Given the description of an element on the screen output the (x, y) to click on. 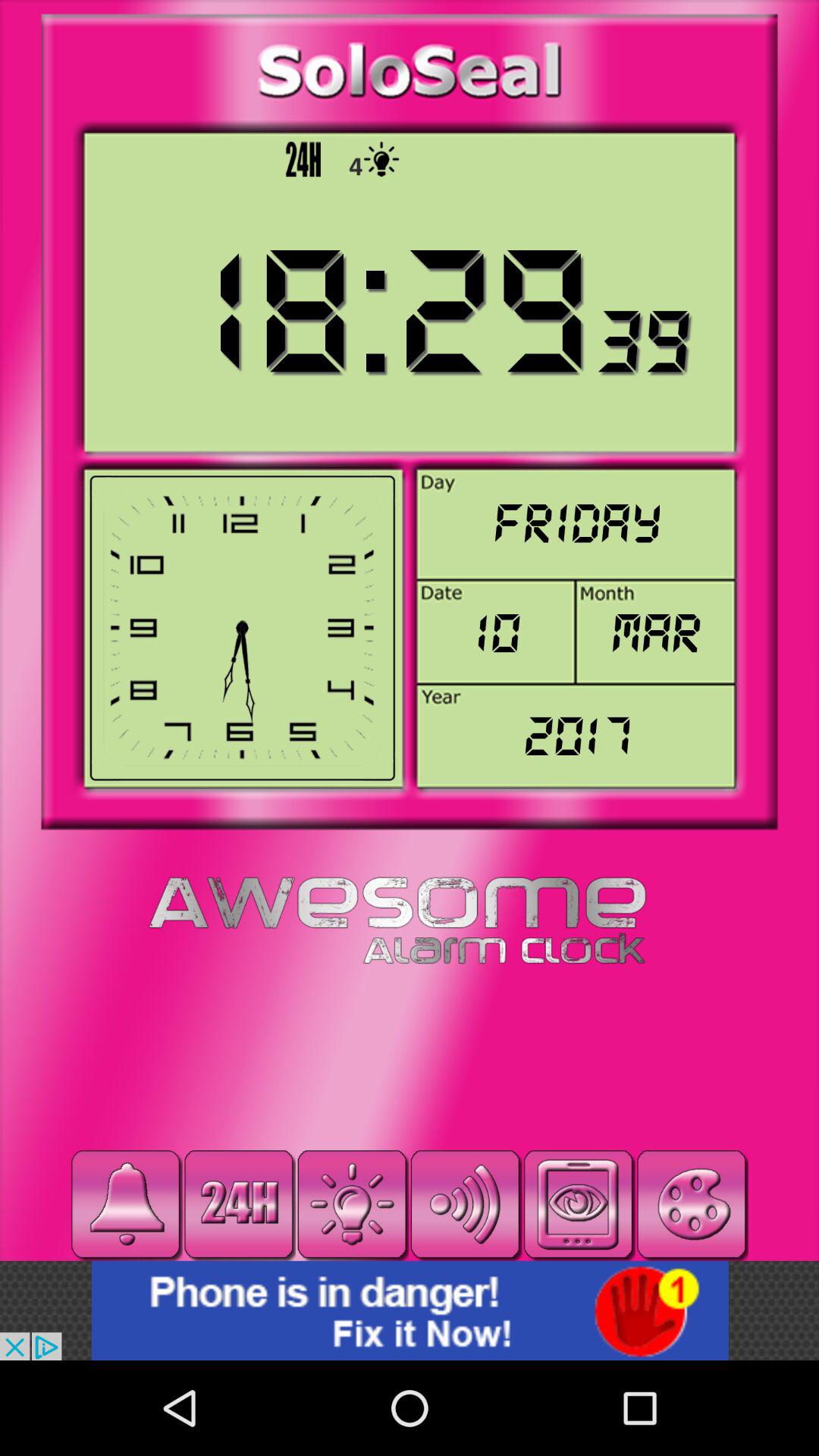
go to timing option (238, 1203)
